Given the description of an element on the screen output the (x, y) to click on. 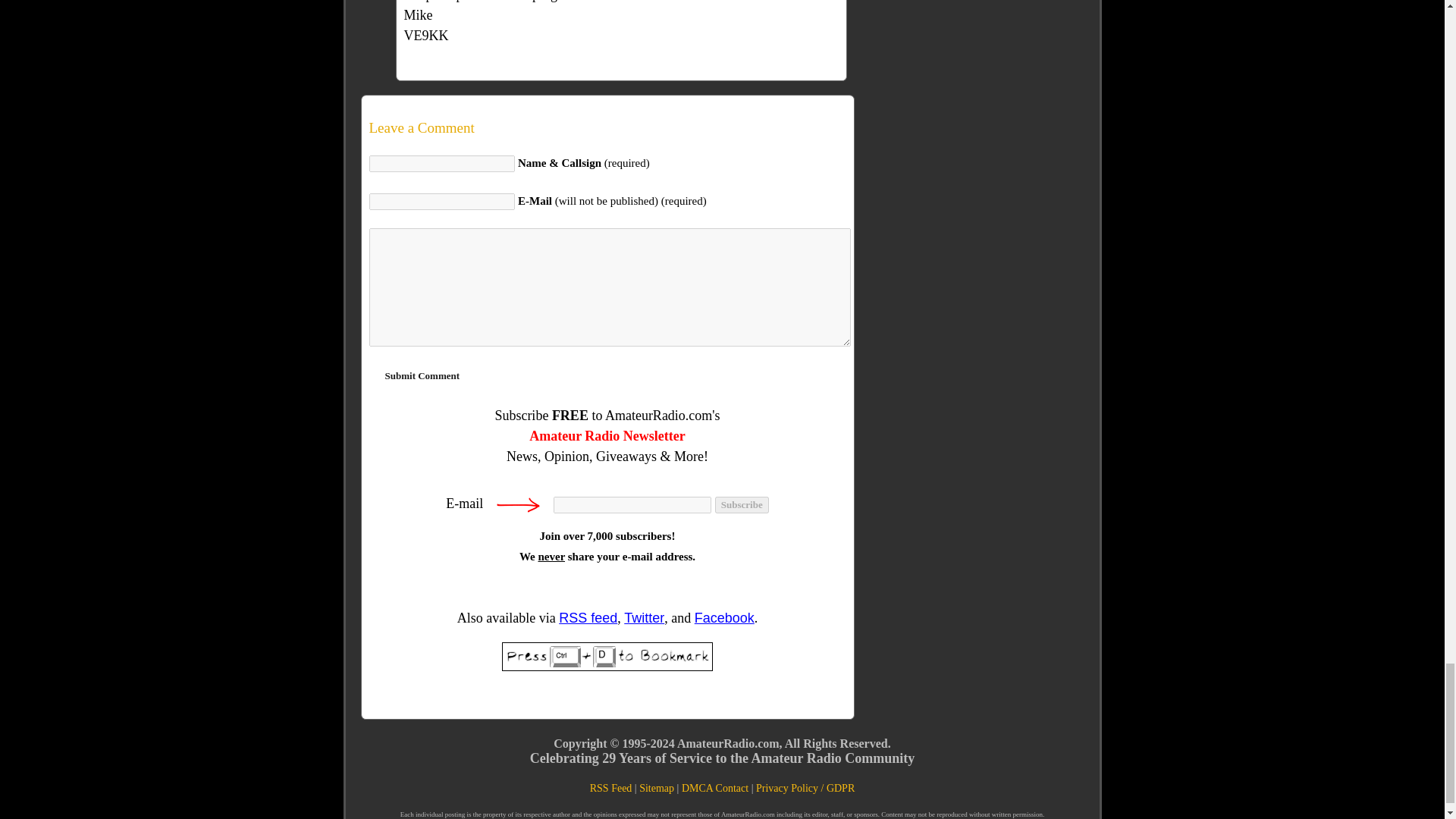
RSS feed (588, 617)
Submit Comment (422, 376)
Facebook (724, 617)
Submit Comment (422, 376)
Twitter (643, 617)
Subscribe (741, 504)
Leave a Comment (606, 127)
Subscribe (741, 504)
